Given the description of an element on the screen output the (x, y) to click on. 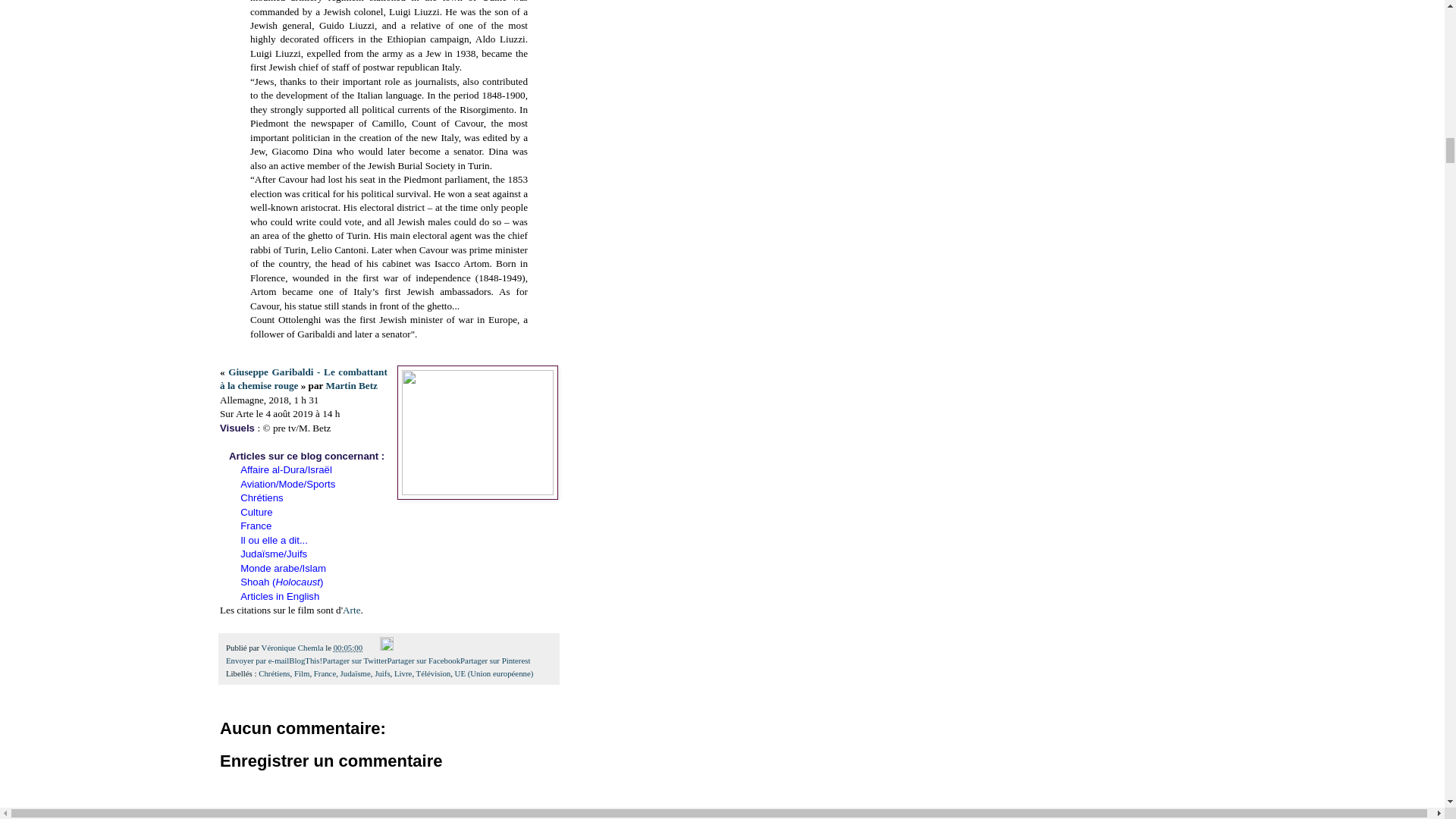
France (255, 525)
Partager sur Twitter (354, 660)
Partager sur Facebook (424, 660)
Envoyer par e-mail (256, 660)
Culture (256, 511)
Envoyer l'article par e-mail (372, 646)
Il ou elle a dit... (273, 540)
Modifier l'article (386, 646)
BlogThis! (304, 660)
Partager sur Pinterest (494, 660)
permanent link (347, 646)
author profile (294, 646)
Martin Betz (350, 385)
